Given the description of an element on the screen output the (x, y) to click on. 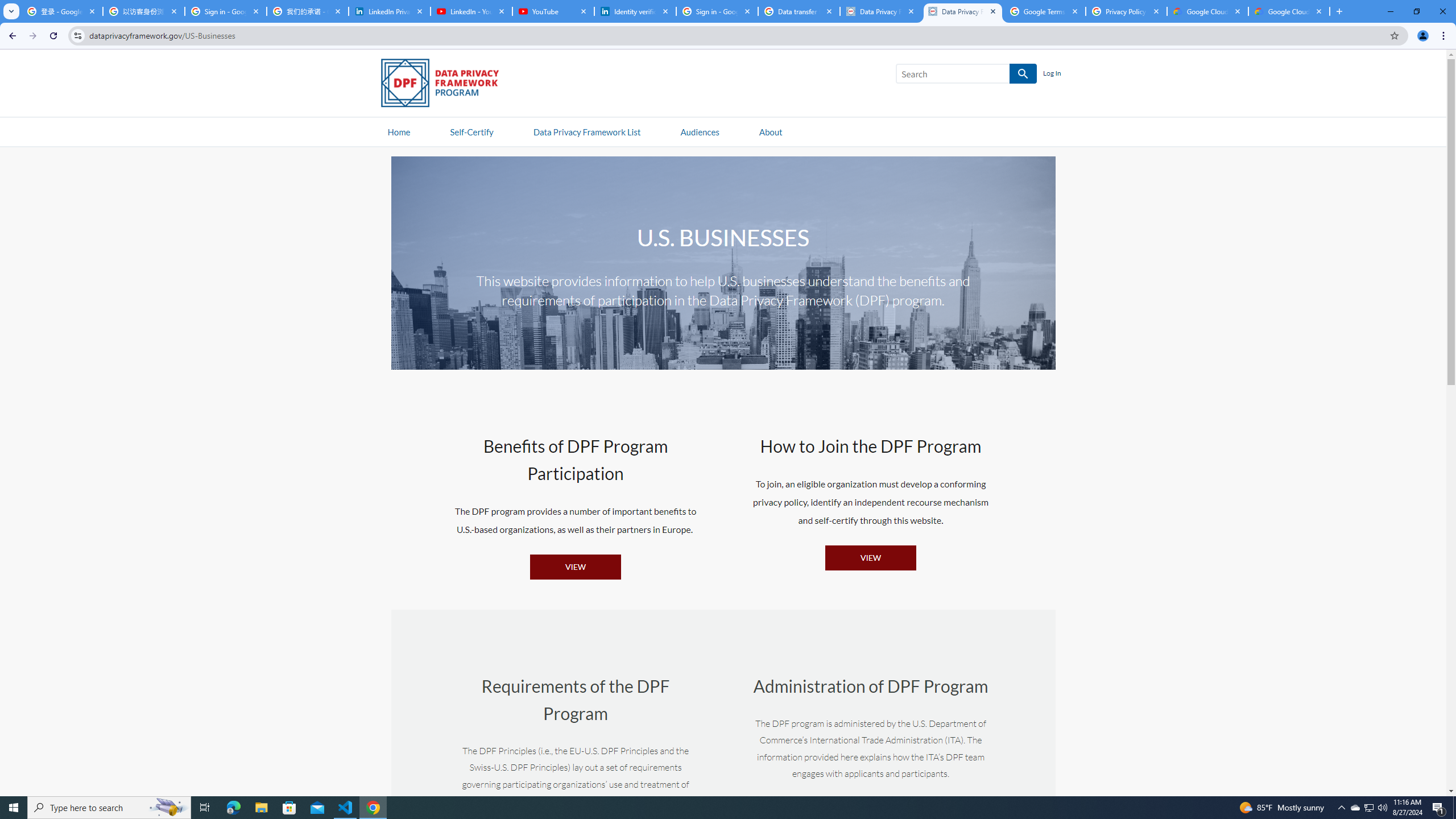
SEARCH (1022, 73)
Sign in - Google Accounts (225, 11)
Sign in - Google Accounts (716, 11)
Self-Certify (471, 131)
VIEW (870, 557)
